Given the description of an element on the screen output the (x, y) to click on. 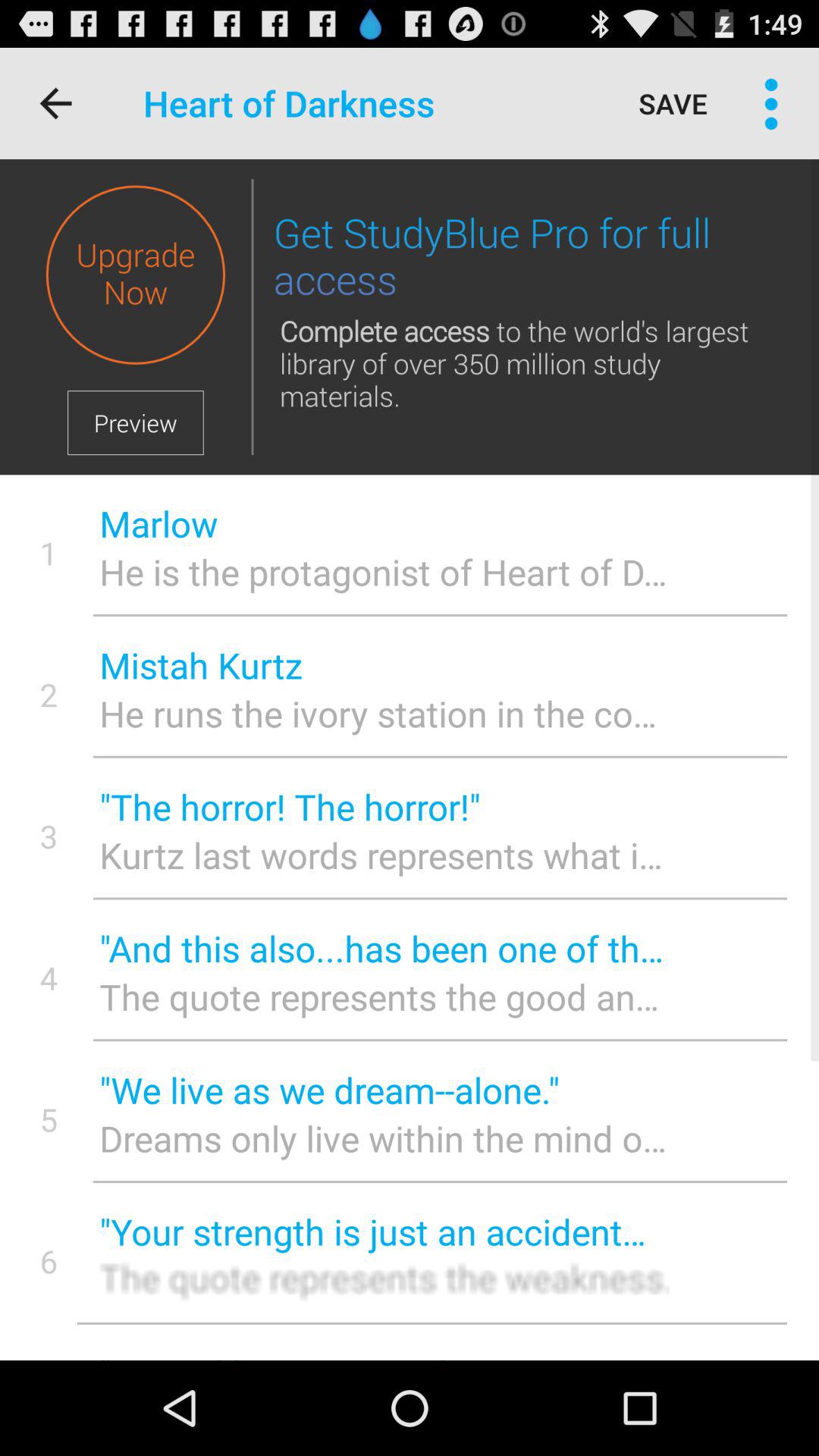
click the item to the right of the 5 icon (384, 1138)
